Given the description of an element on the screen output the (x, y) to click on. 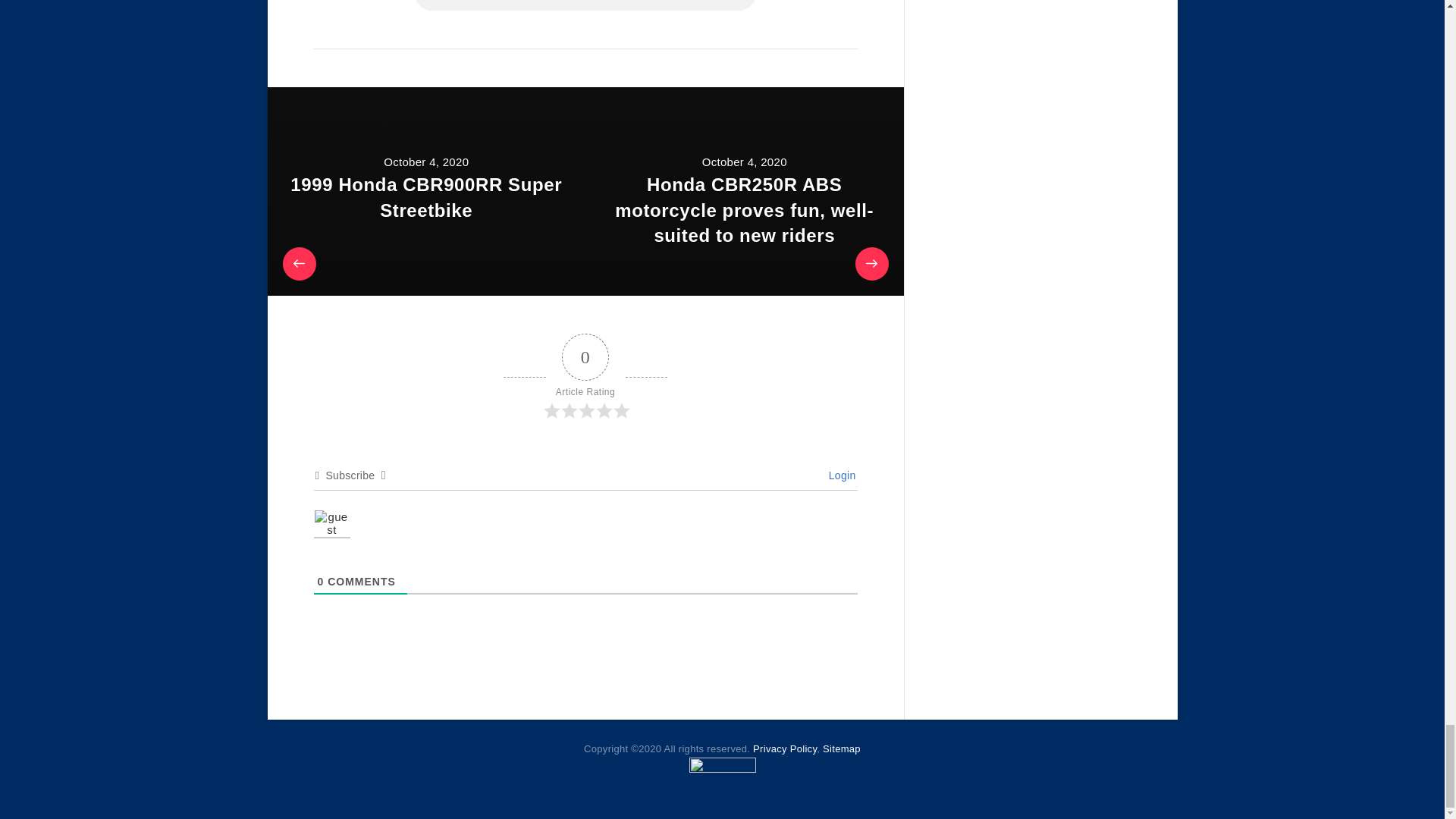
Login (840, 475)
